Given the description of an element on the screen output the (x, y) to click on. 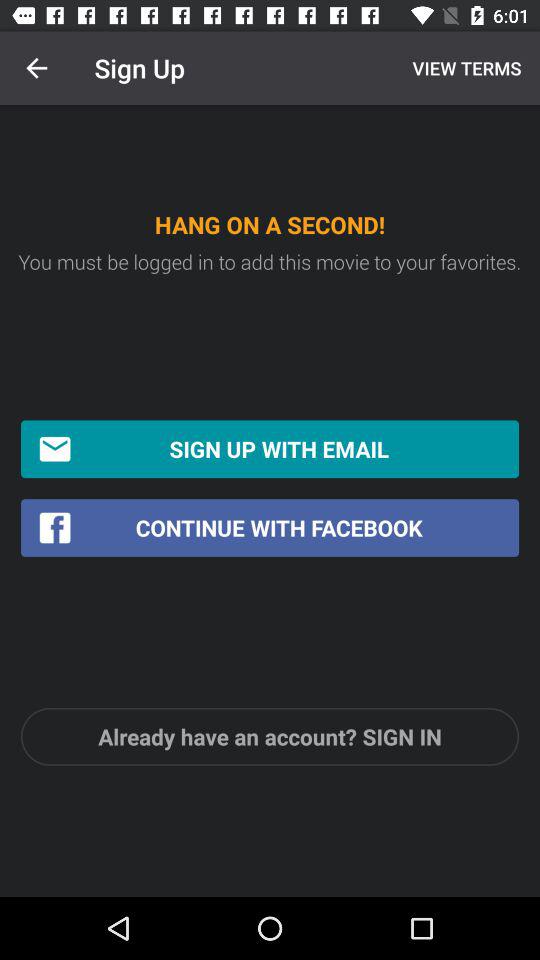
open the icon next to sign up icon (36, 68)
